Given the description of an element on the screen output the (x, y) to click on. 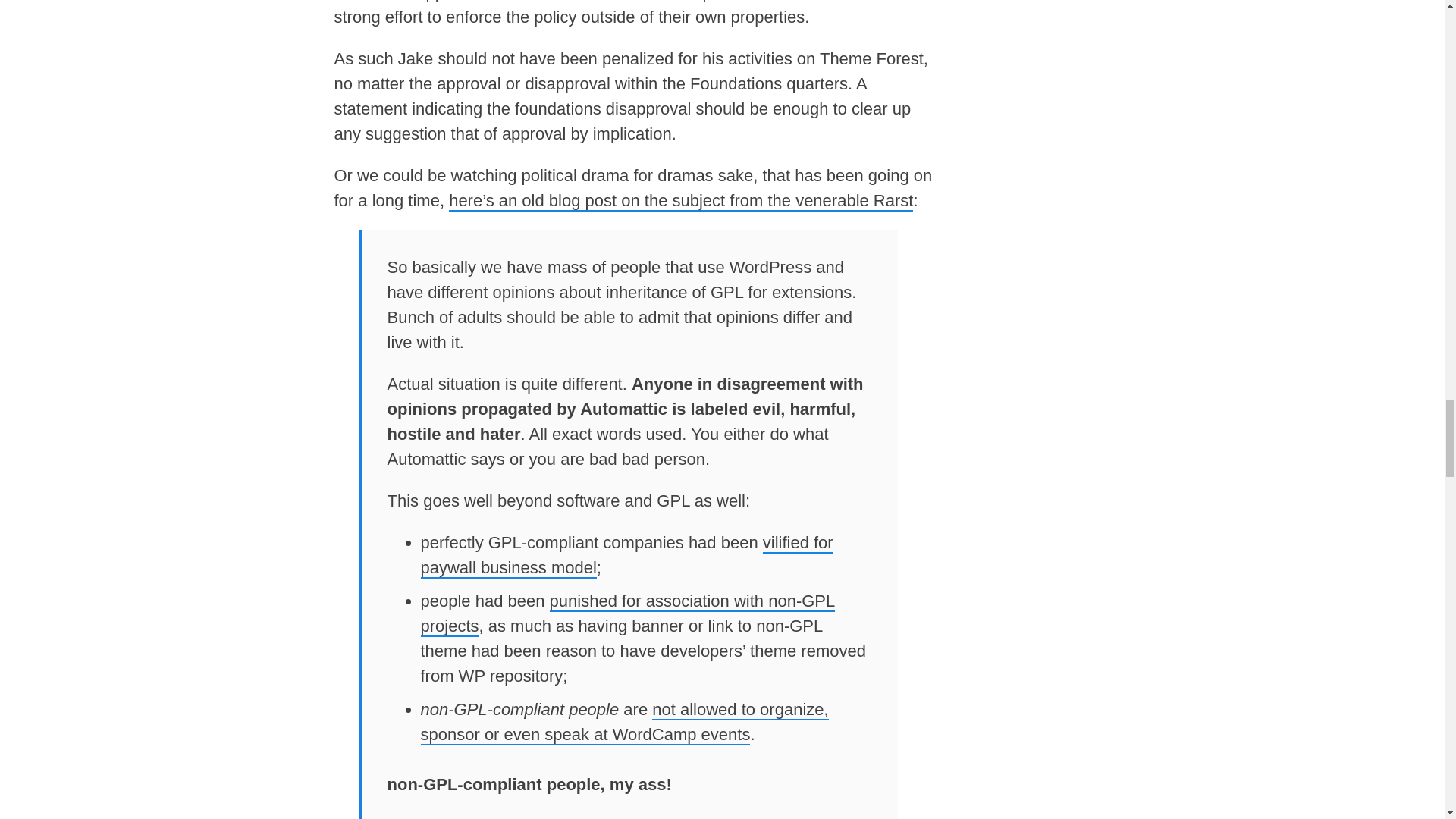
vilified for paywall business model (626, 555)
punished for association with non-GPL projects (627, 614)
